Given the description of an element on the screen output the (x, y) to click on. 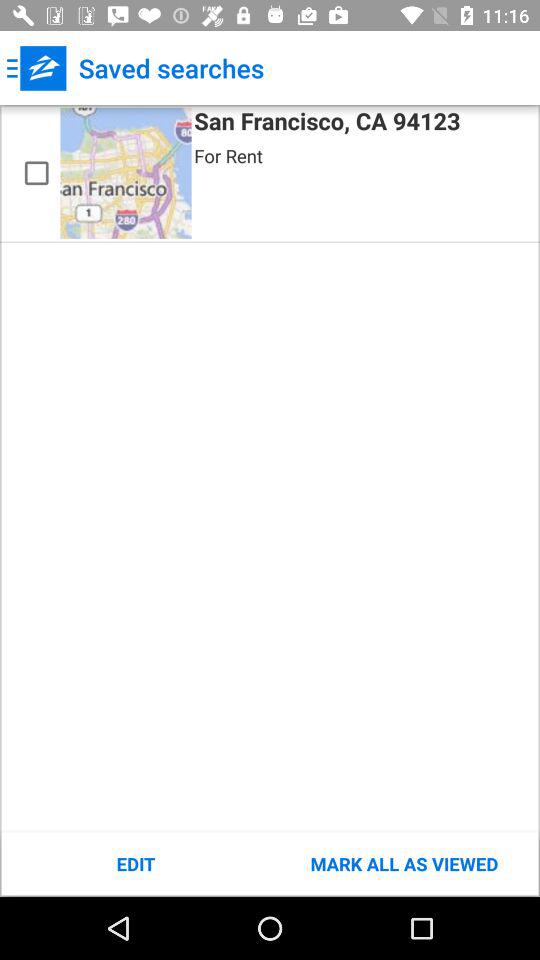
turn on the icon above the for rent icon (327, 124)
